Given the description of an element on the screen output the (x, y) to click on. 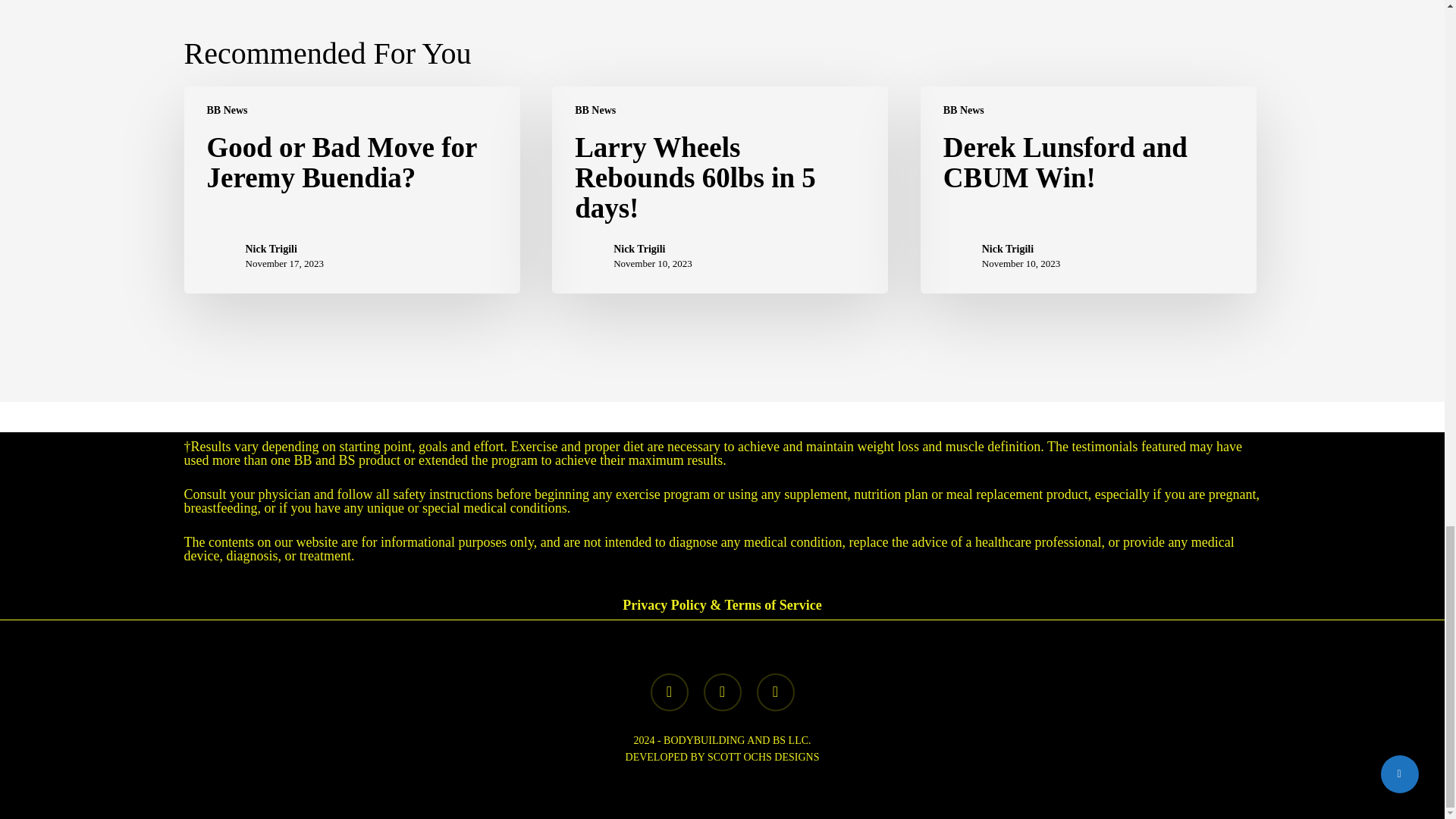
BB News (963, 110)
Nick Trigili (1021, 249)
BB News (226, 110)
BB News (595, 110)
Nick Trigili (285, 249)
Nick Trigili (652, 249)
